Given the description of an element on the screen output the (x, y) to click on. 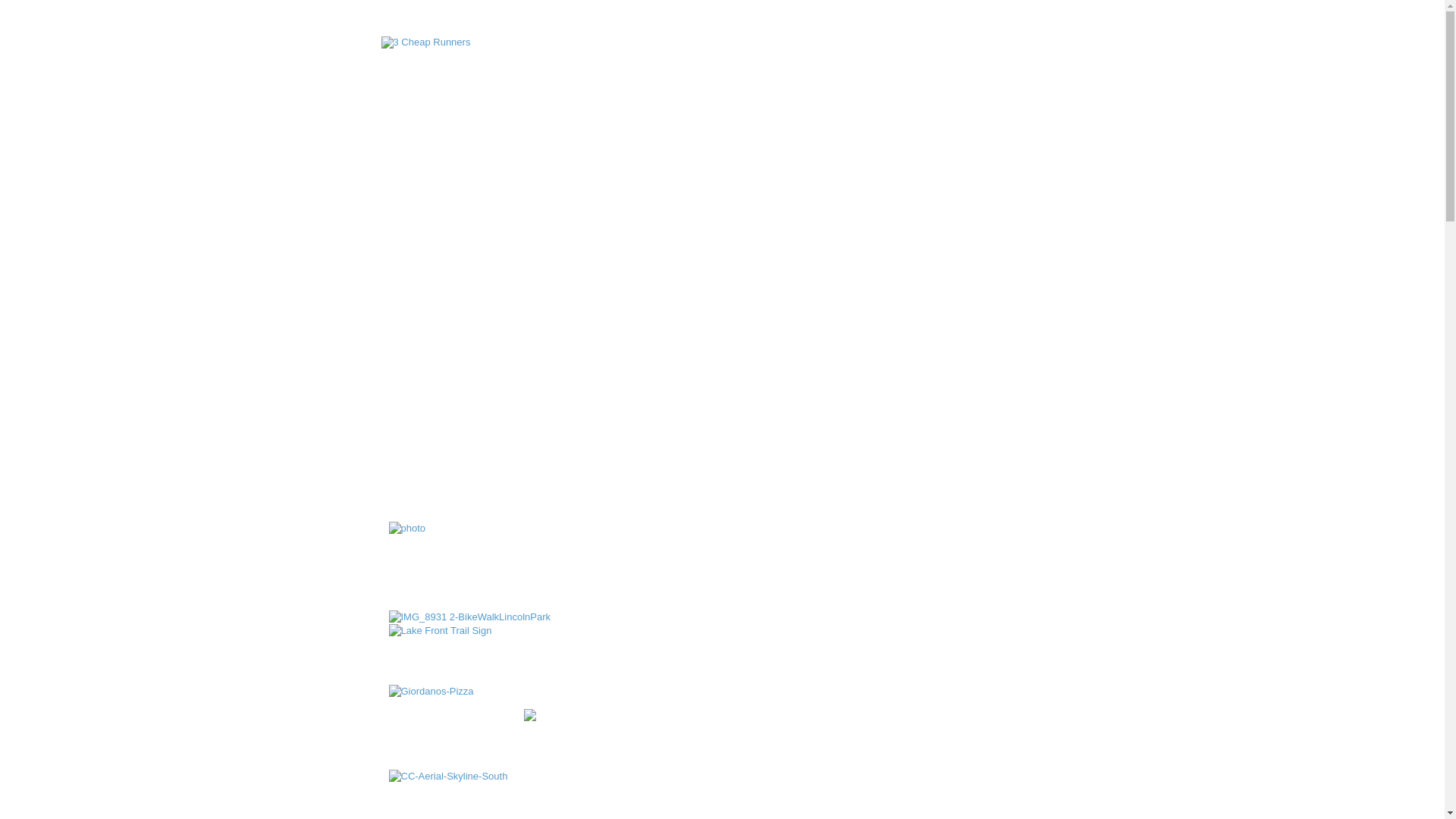
Contact Us Element type: text (910, 232)
photo Element type: hover (406, 528)
Home Element type: text (520, 232)
Deals! Element type: text (832, 232)
Lake Front Trail Sign Element type: hover (439, 630)
Giordanos-Pizza Element type: hover (430, 691)
CC-Aerial-Skyline-South Element type: hover (447, 776)
Our Races Element type: text (677, 232)
Reviews Element type: text (760, 232)
IMG_8931 2-BikeWalkLincolnPark Element type: hover (469, 617)
About Us Element type: text (592, 232)
